Given the description of an element on the screen output the (x, y) to click on. 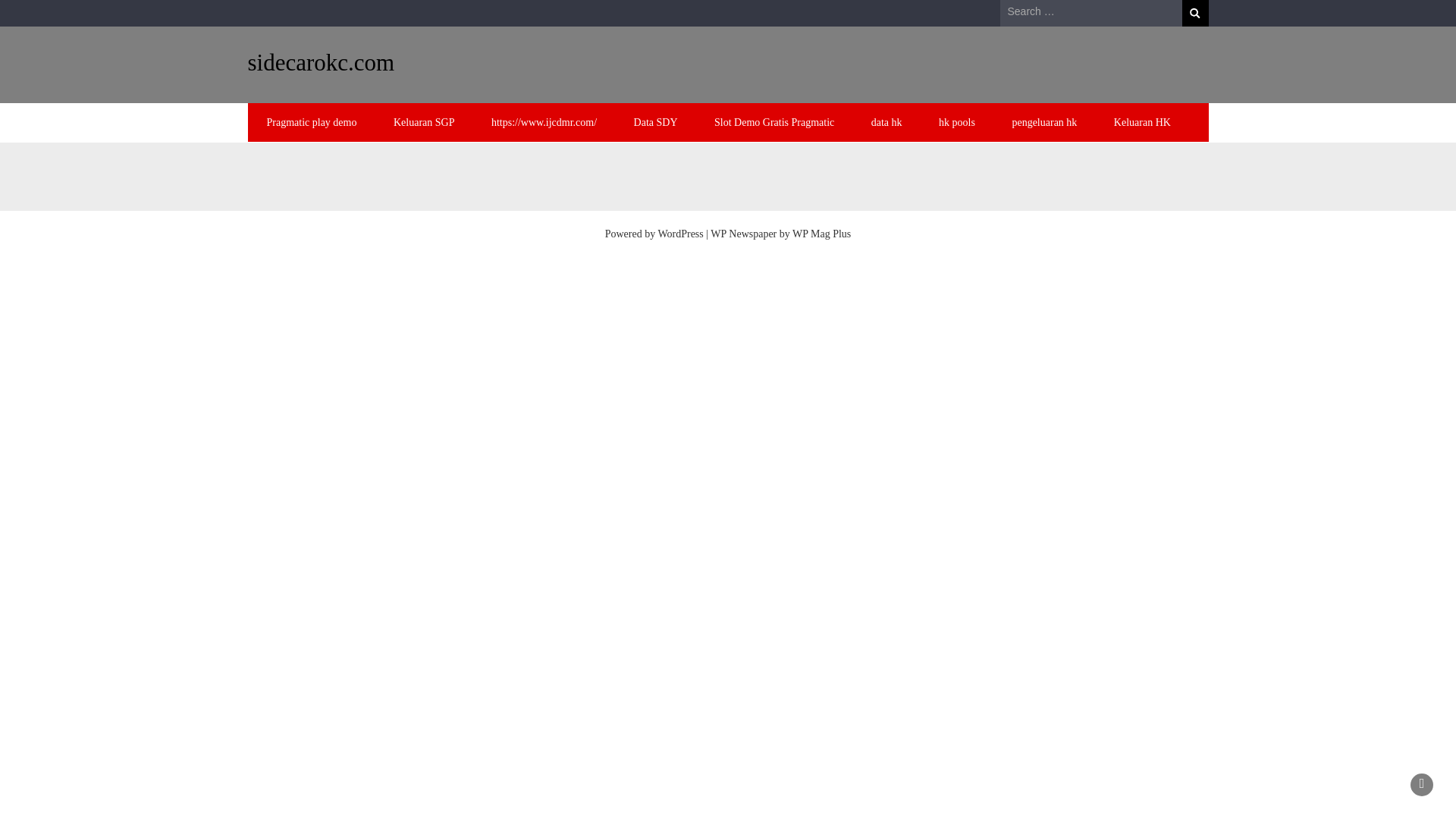
WordPress (680, 233)
Search (1194, 13)
data hk (886, 122)
Search (1194, 13)
Data SDY (655, 122)
pengeluaran hk (1043, 122)
hk pools (956, 122)
Search (1194, 13)
Keluaran HK (1142, 122)
Pragmatic play demo (311, 122)
Search for: (1089, 11)
Slot Demo Gratis Pragmatic (773, 122)
WP Newspaper by WP Mag Plus (780, 233)
sidecarokc.com (320, 62)
Keluaran SGP (424, 122)
